Given the description of an element on the screen output the (x, y) to click on. 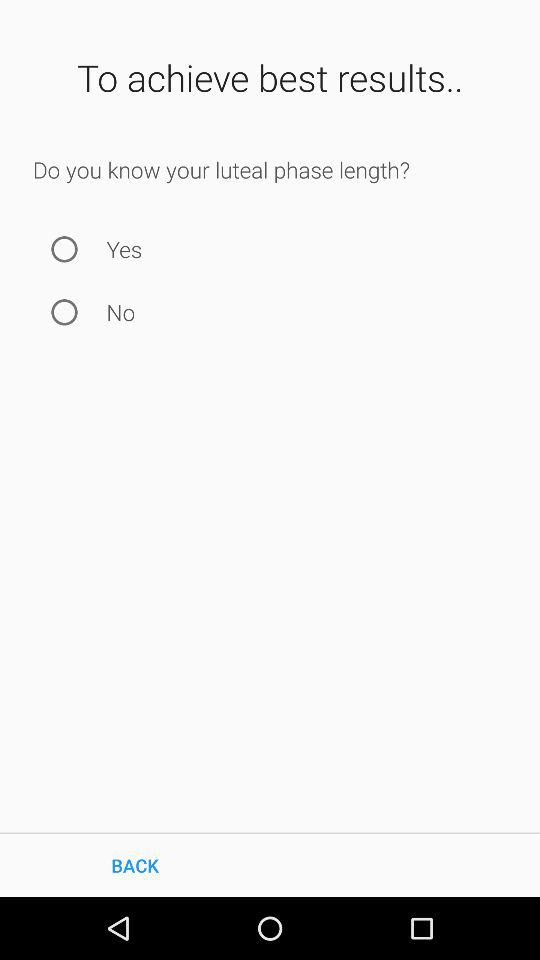
yes (64, 248)
